Given the description of an element on the screen output the (x, y) to click on. 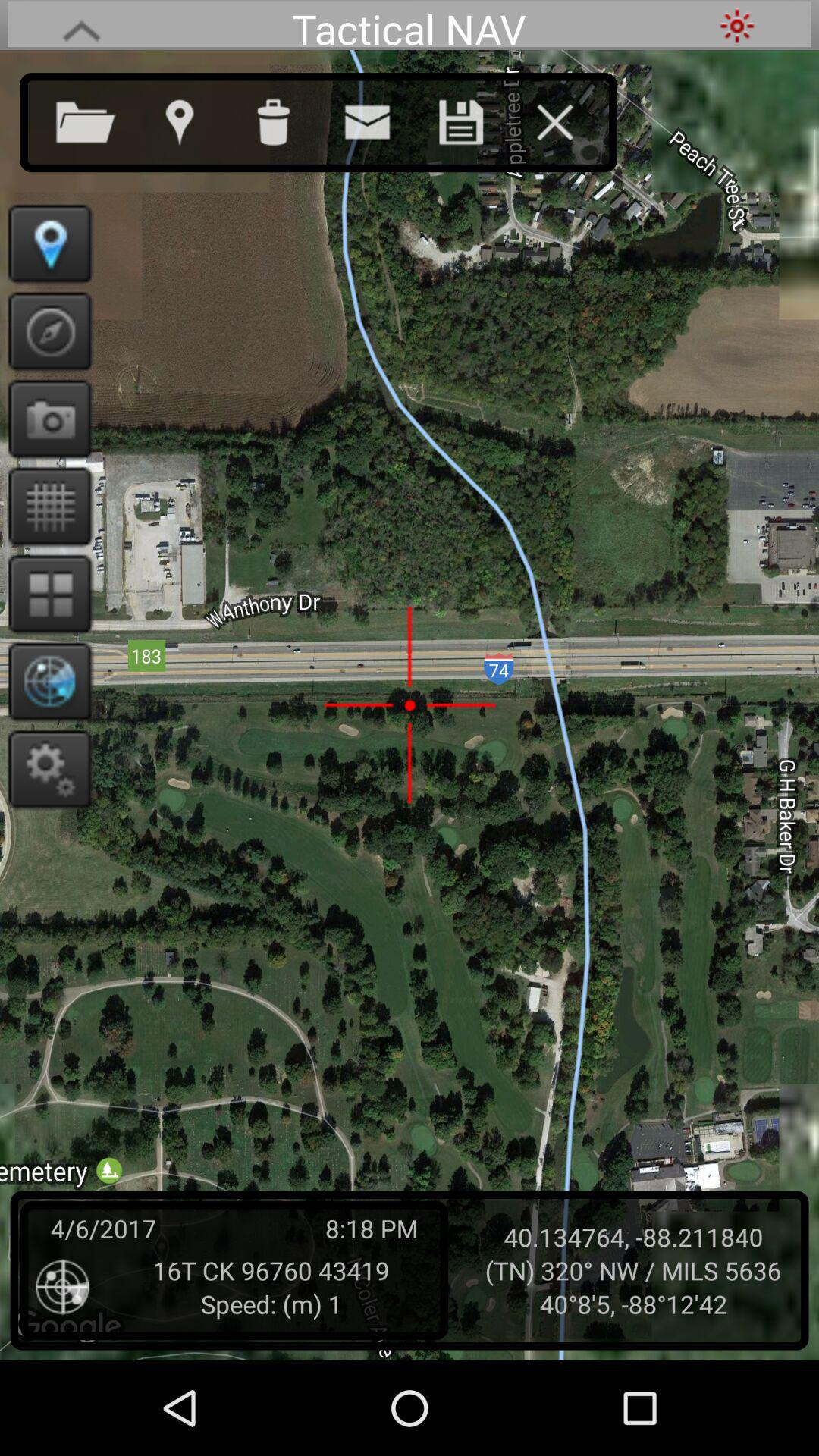
screen brightness (737, 25)
